Given the description of an element on the screen output the (x, y) to click on. 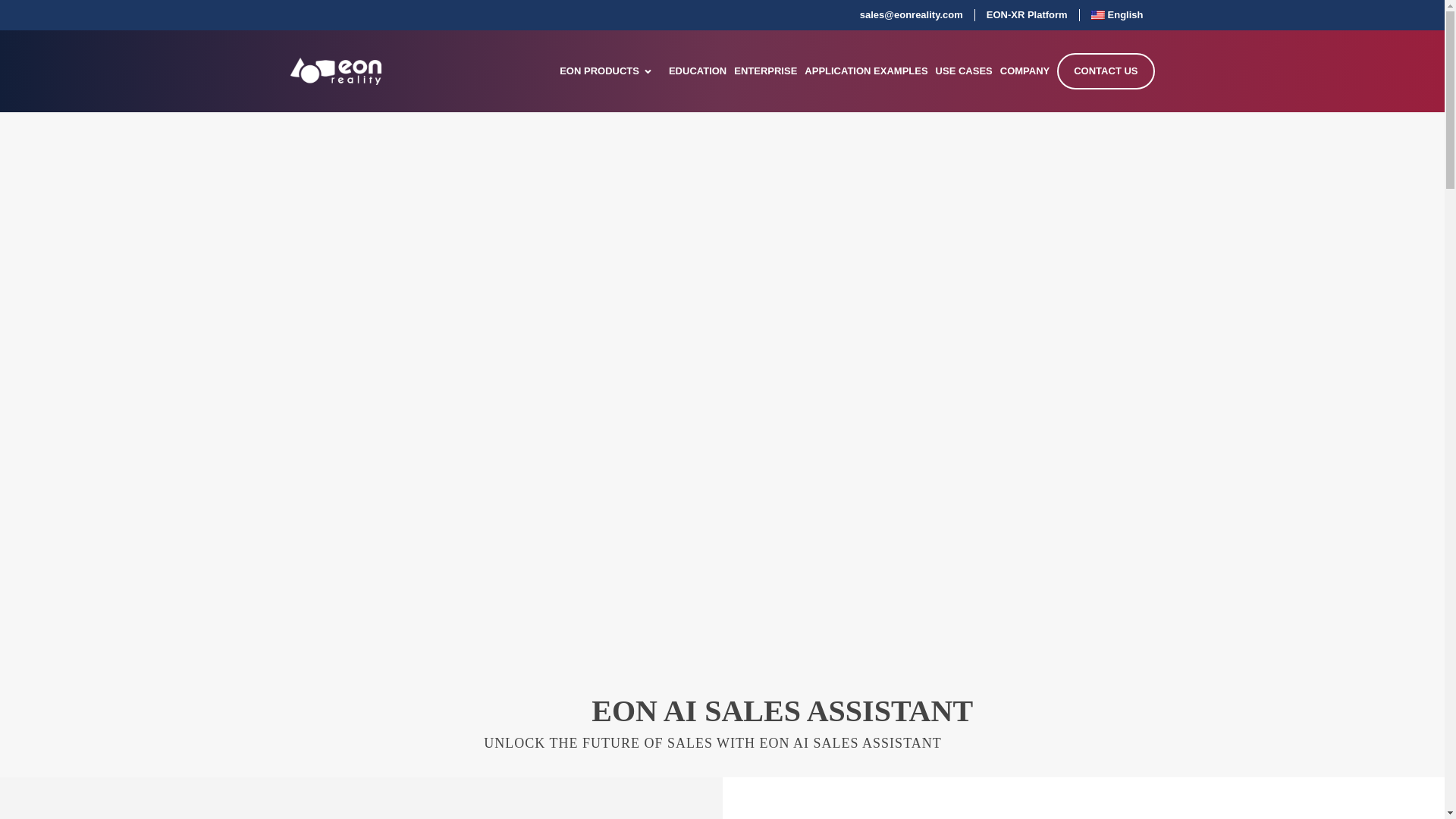
English (1117, 14)
EON-XR Platform (1026, 14)
English (1117, 14)
EON PRODUCTS (599, 70)
